Given the description of an element on the screen output the (x, y) to click on. 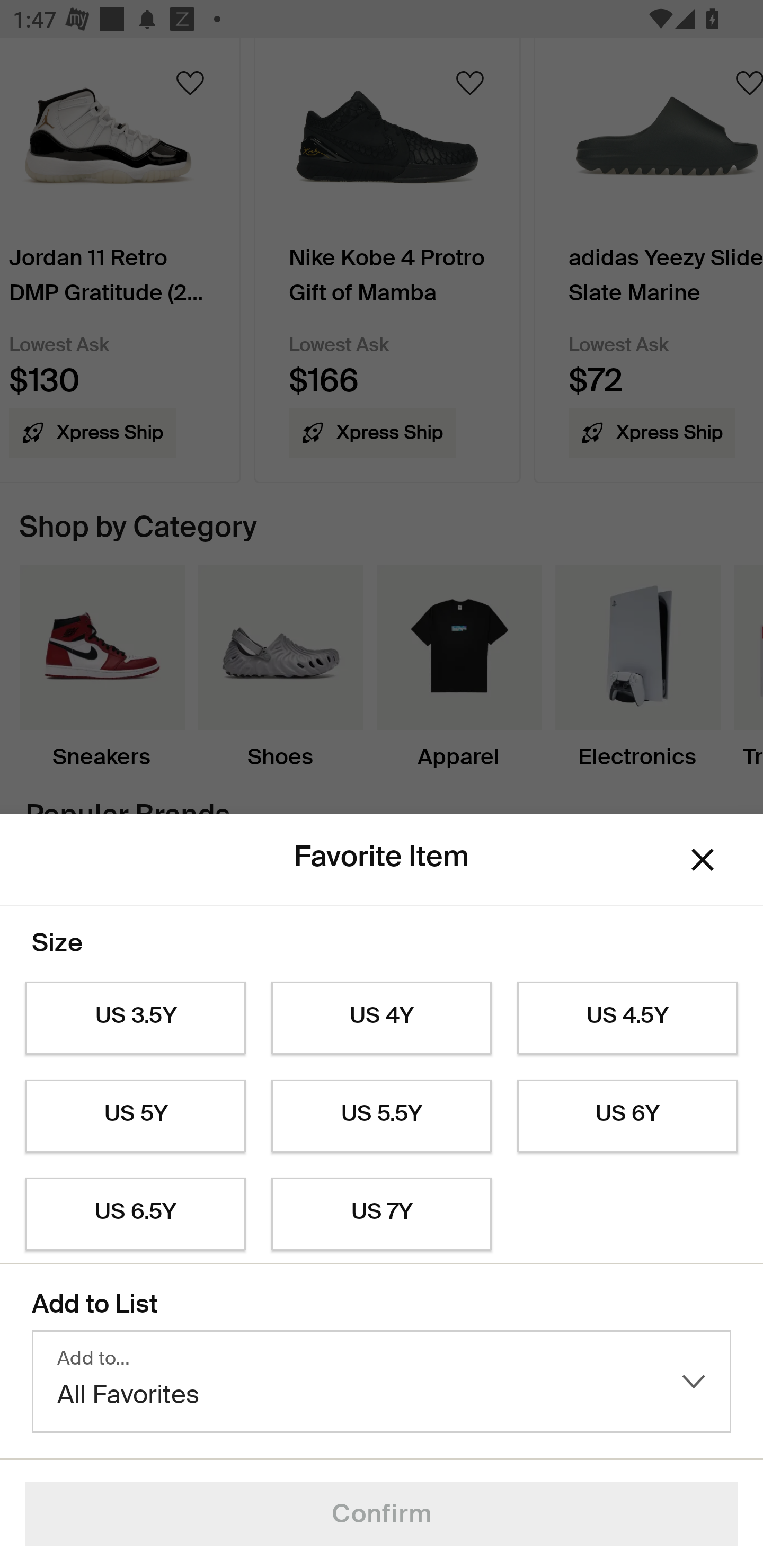
Dismiss (702, 859)
US 3.5Y (135, 1018)
US 4Y (381, 1018)
US 4.5Y (627, 1018)
US 5Y (135, 1116)
US 5.5Y (381, 1116)
US 6Y (627, 1116)
US 6.5Y (135, 1214)
US 7Y (381, 1214)
Add to… All Favorites (381, 1381)
Confirm (381, 1513)
